Given the description of an element on the screen output the (x, y) to click on. 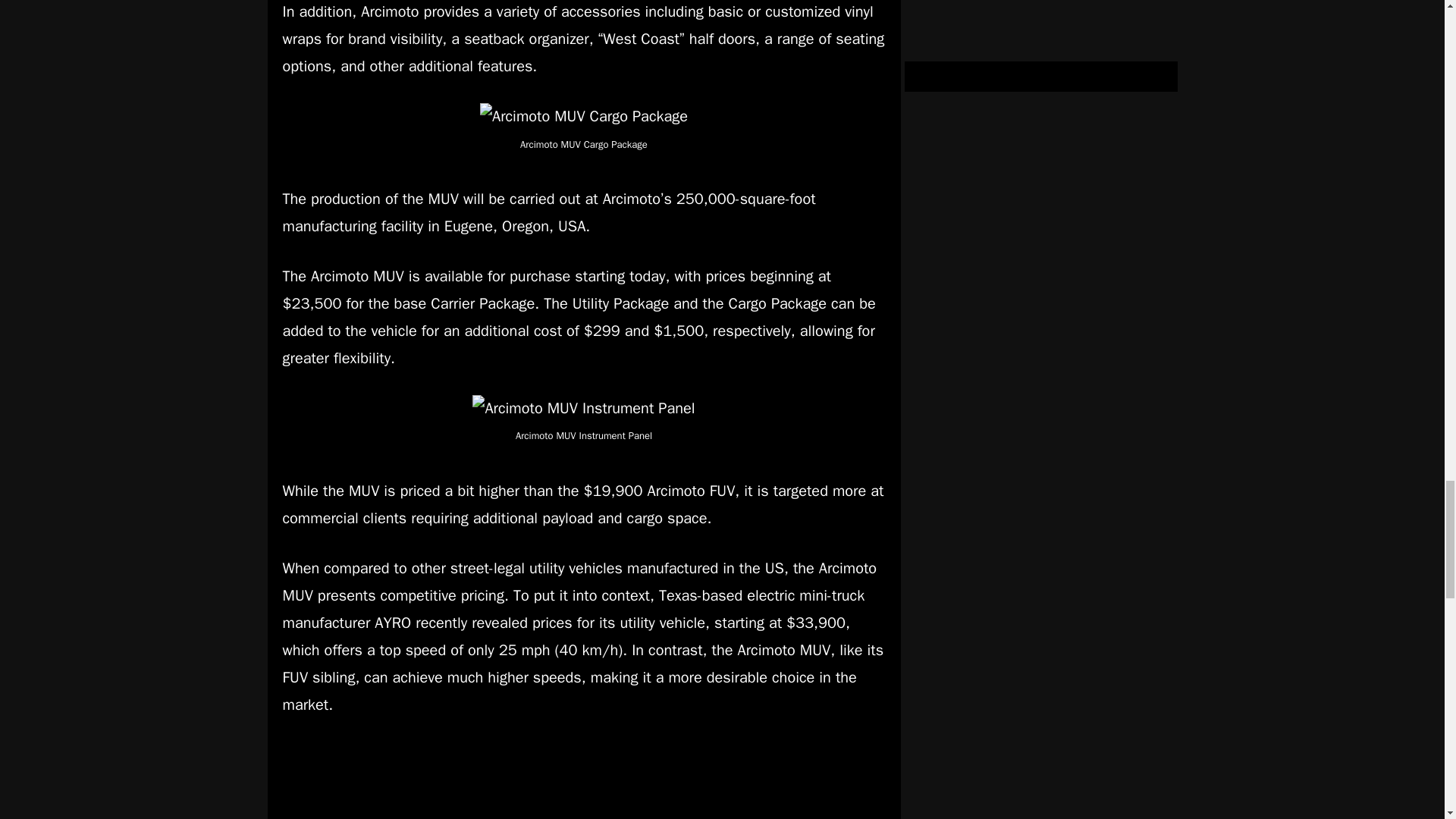
FUV RALLY! Spring 2023 (583, 780)
